Given the description of an element on the screen output the (x, y) to click on. 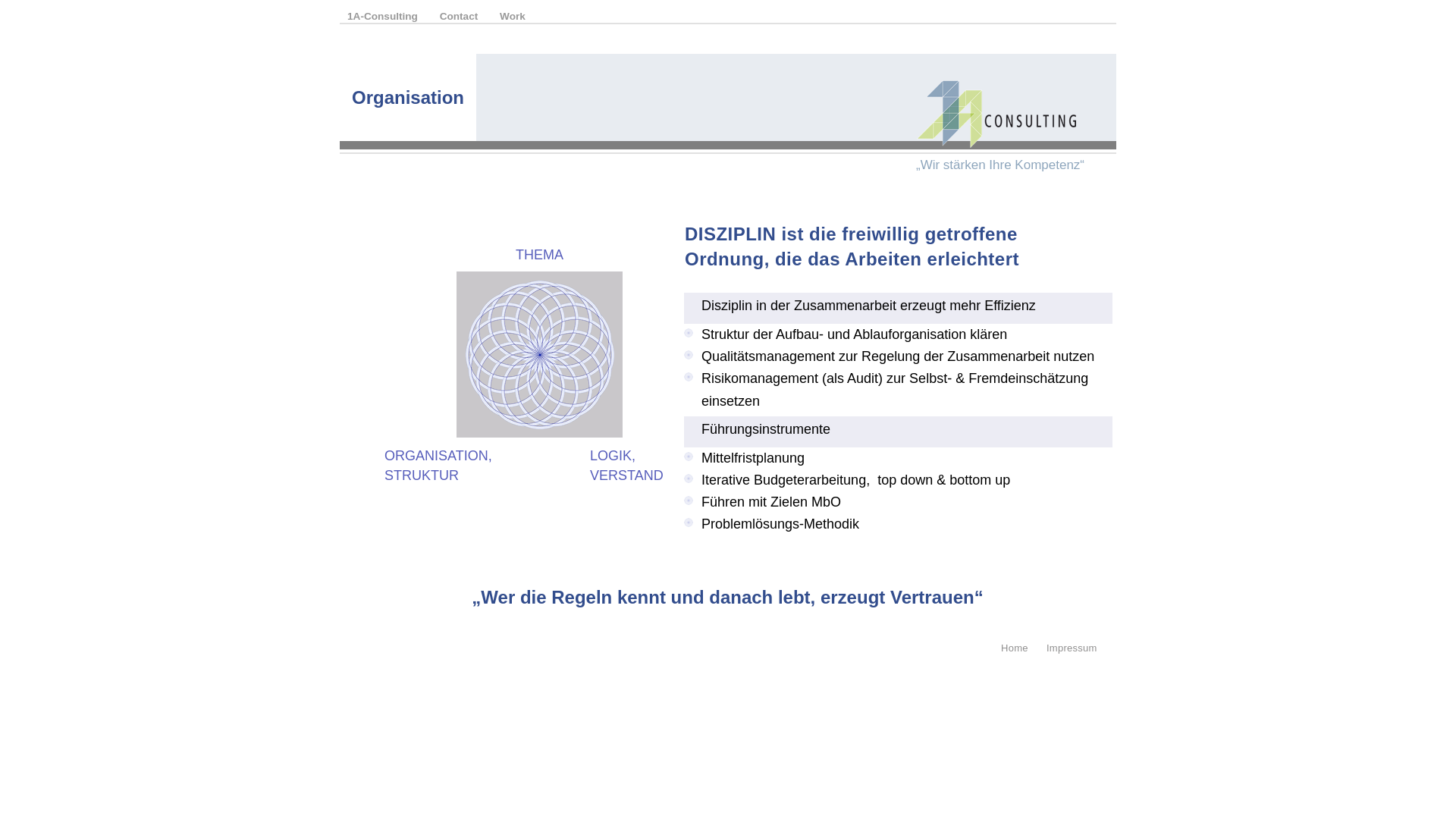
Contact Element type: text (459, 15)
1A-Consulting Element type: text (383, 15)
Work Element type: text (512, 15)
